Given the description of an element on the screen output the (x, y) to click on. 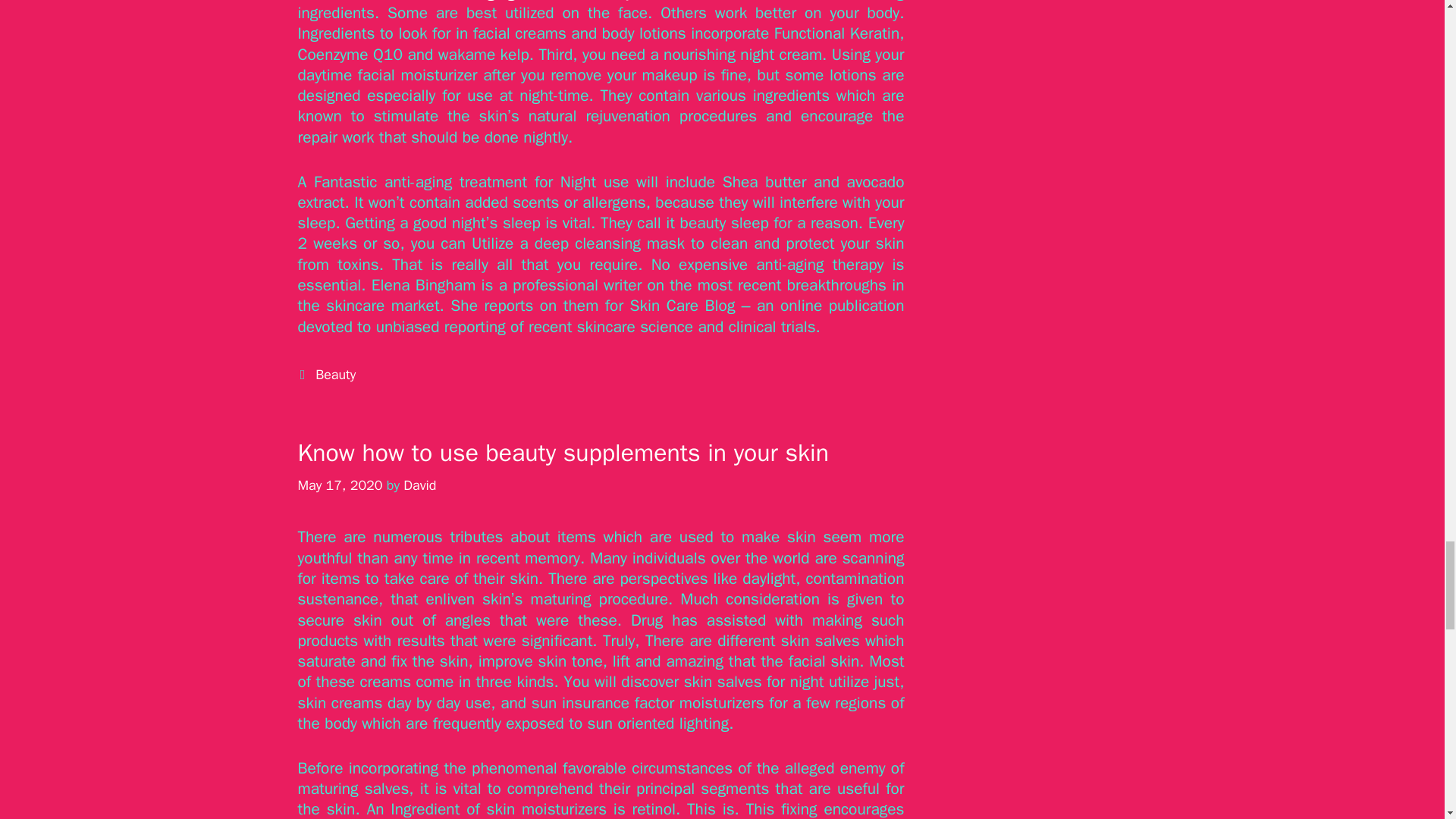
View all posts by David (419, 484)
Beauty (335, 374)
5:06 am (339, 484)
David (419, 484)
anti aging treatment in pune (550, 1)
Know how to use beauty supplements in your skin (562, 452)
May 17, 2020 (339, 484)
